Given the description of an element on the screen output the (x, y) to click on. 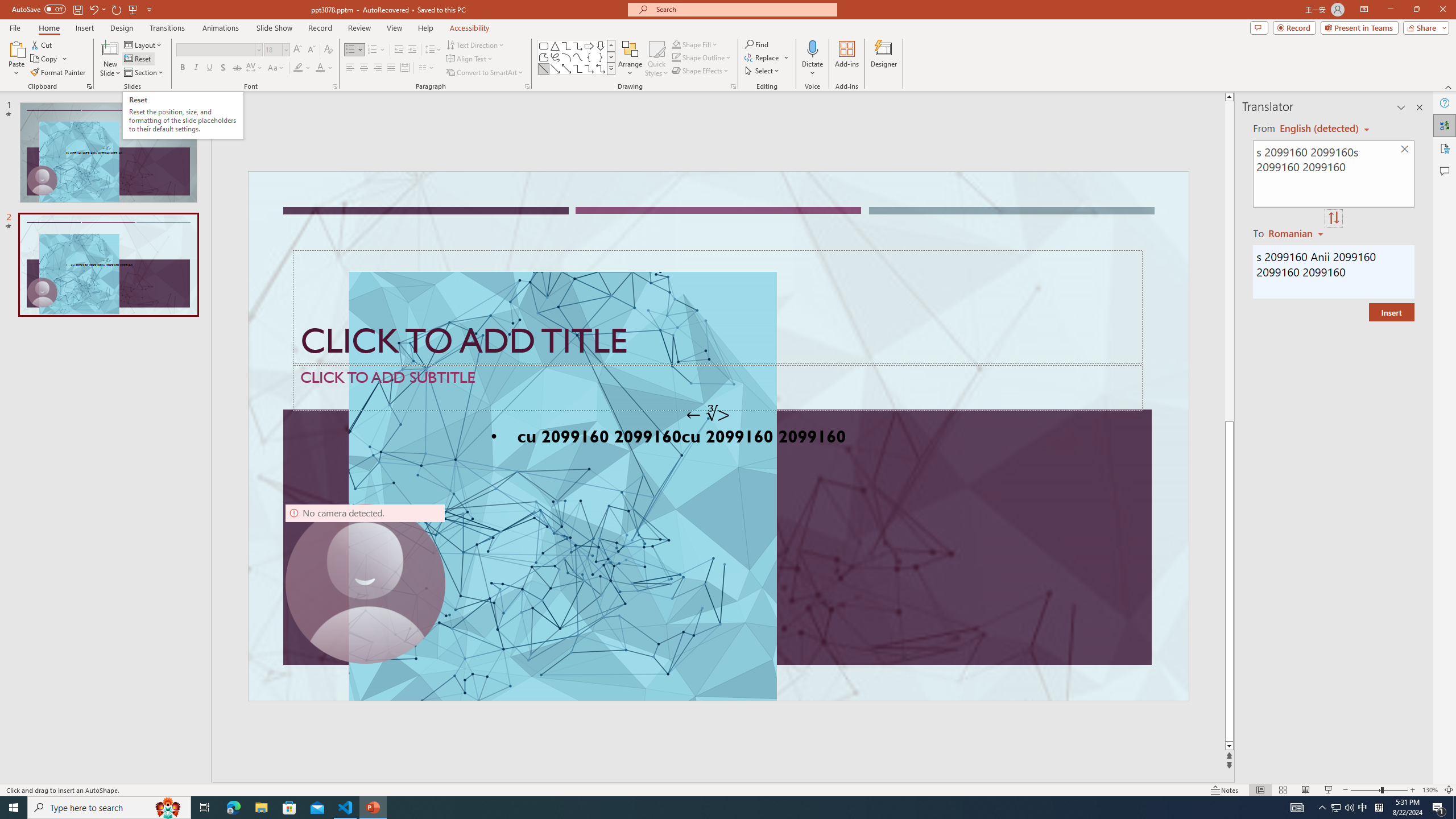
Microsoft security help and learning (234, 535)
wangyian_dsw - DSW (242, 236)
No Problems (121, 766)
Notebook (616, 114)
Class: ___1lmltc5 f1agt3bx f12qytpq (1348, 122)
Go Forward (Alt+RightArrow) (627, 150)
